Given the description of an element on the screen output the (x, y) to click on. 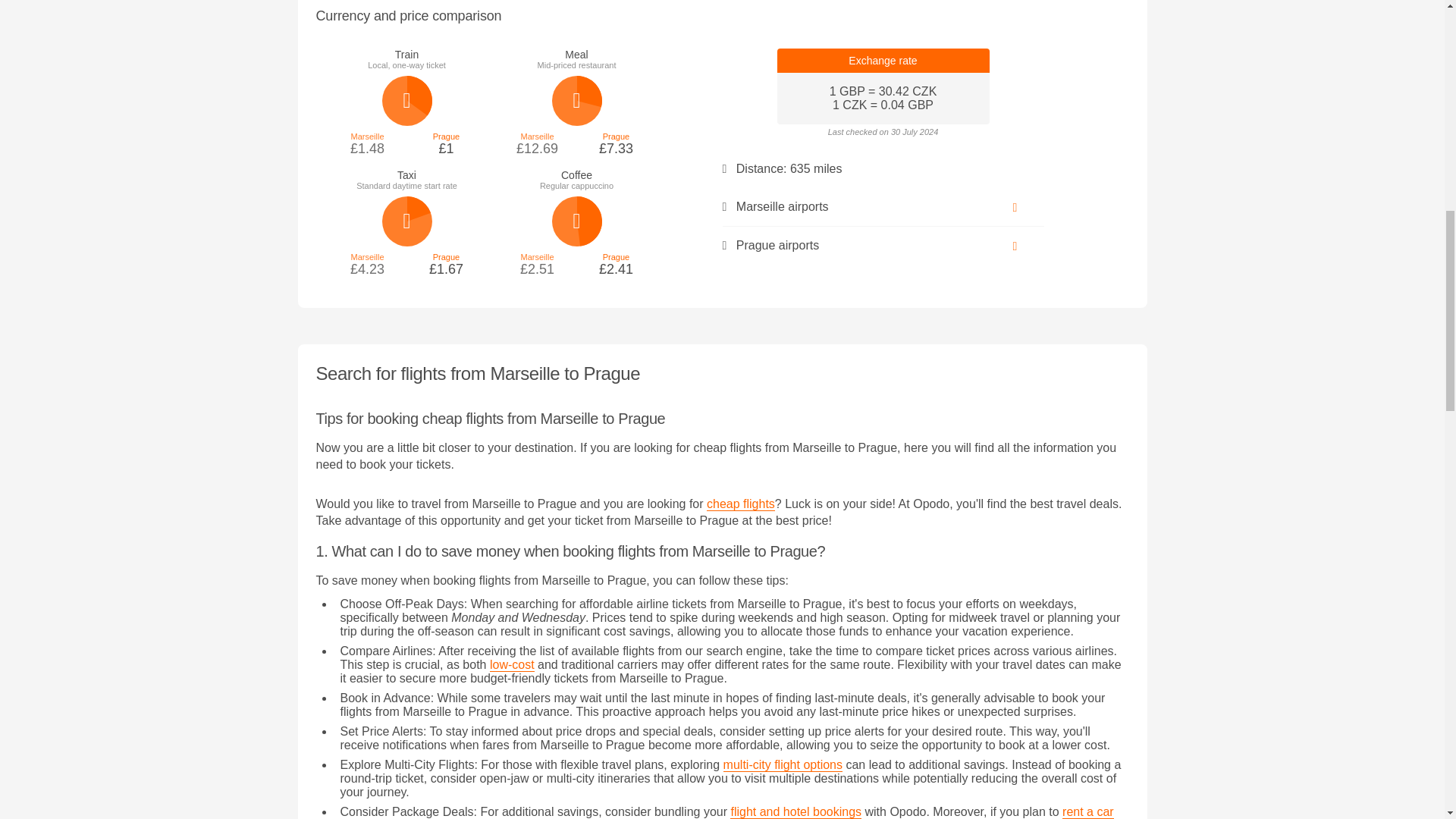
rent a car (1087, 812)
low-cost (511, 664)
flight and hotel bookings (795, 812)
cheap flights (740, 504)
multi-city flight options (783, 765)
